Given the description of an element on the screen output the (x, y) to click on. 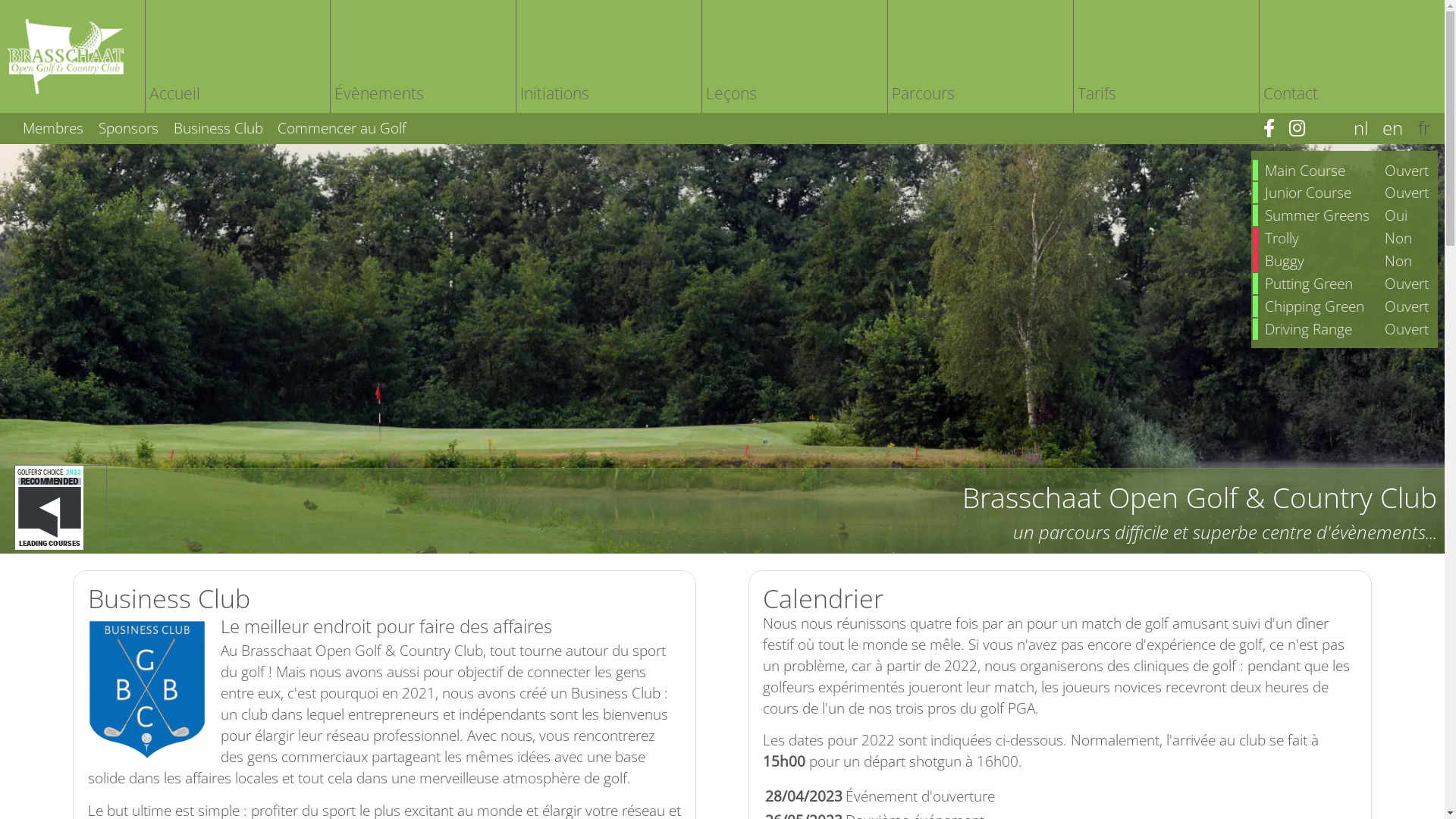
Contact Element type: text (1351, 56)
instagram Element type: hover (1304, 128)
Tarifs Element type: text (1165, 56)
en Element type: text (1399, 128)
Accueil Element type: text (236, 56)
Business Club Element type: text (212, 127)
Initiations Element type: text (608, 56)
Sponsors Element type: text (122, 127)
Membres Element type: text (47, 127)
facebook Element type: hover (1276, 128)
nl Element type: text (1367, 128)
Parcours Element type: text (980, 56)
Commencer au Golf Element type: text (336, 127)
